Given the description of an element on the screen output the (x, y) to click on. 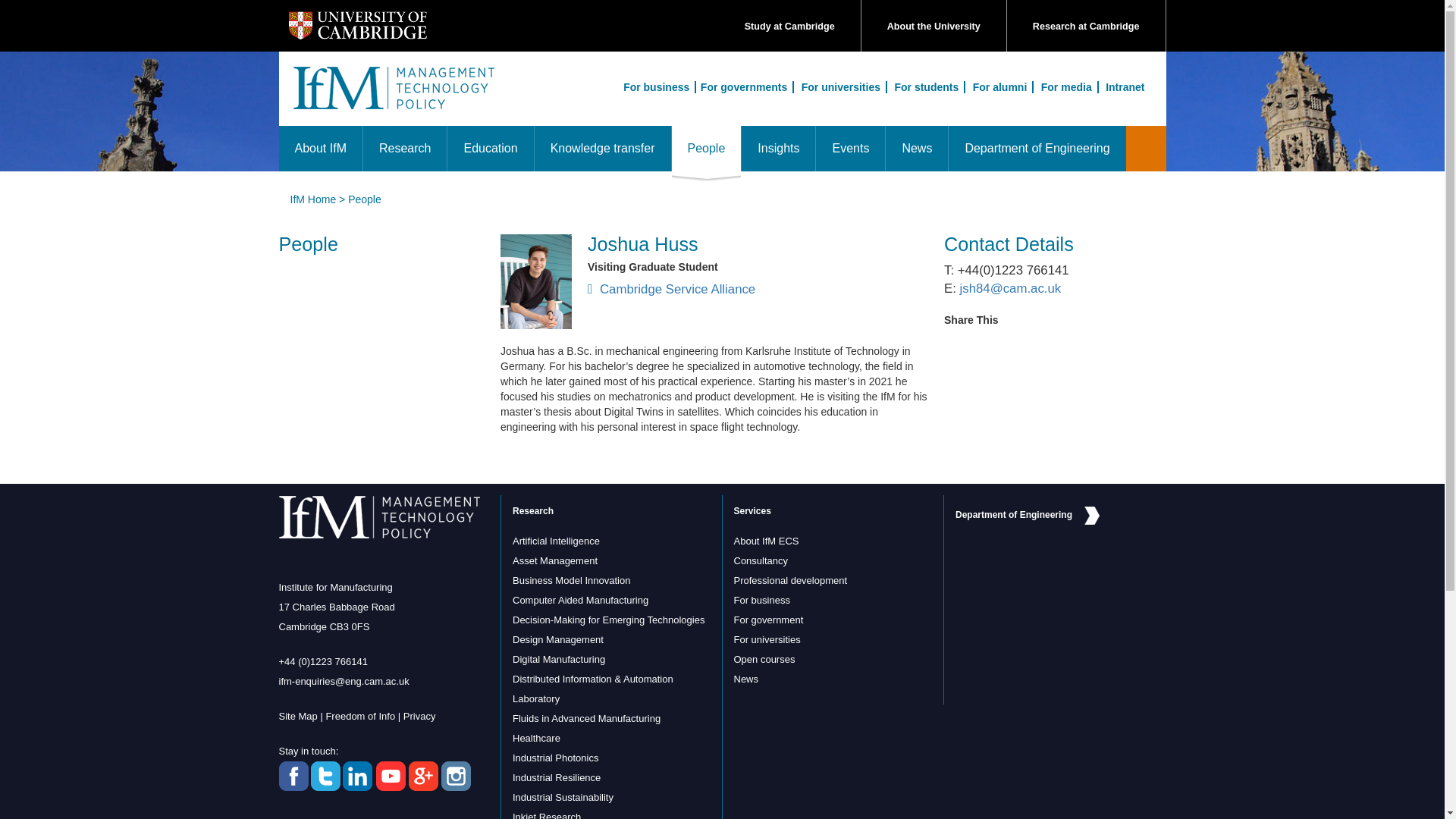
IfM home page (312, 199)
People (364, 199)
Research (404, 148)
IfM home page (392, 96)
Insights (778, 148)
Inkjet Research Centre (546, 815)
IfM Home (312, 199)
For students (927, 87)
Asset Management (554, 560)
Study at Cambridge (789, 26)
Cambridge Service Alliance (760, 289)
About IfM (320, 148)
Industrial Resilience Research Group (555, 777)
For universities (841, 87)
For alumni (1000, 87)
